Given the description of an element on the screen output the (x, y) to click on. 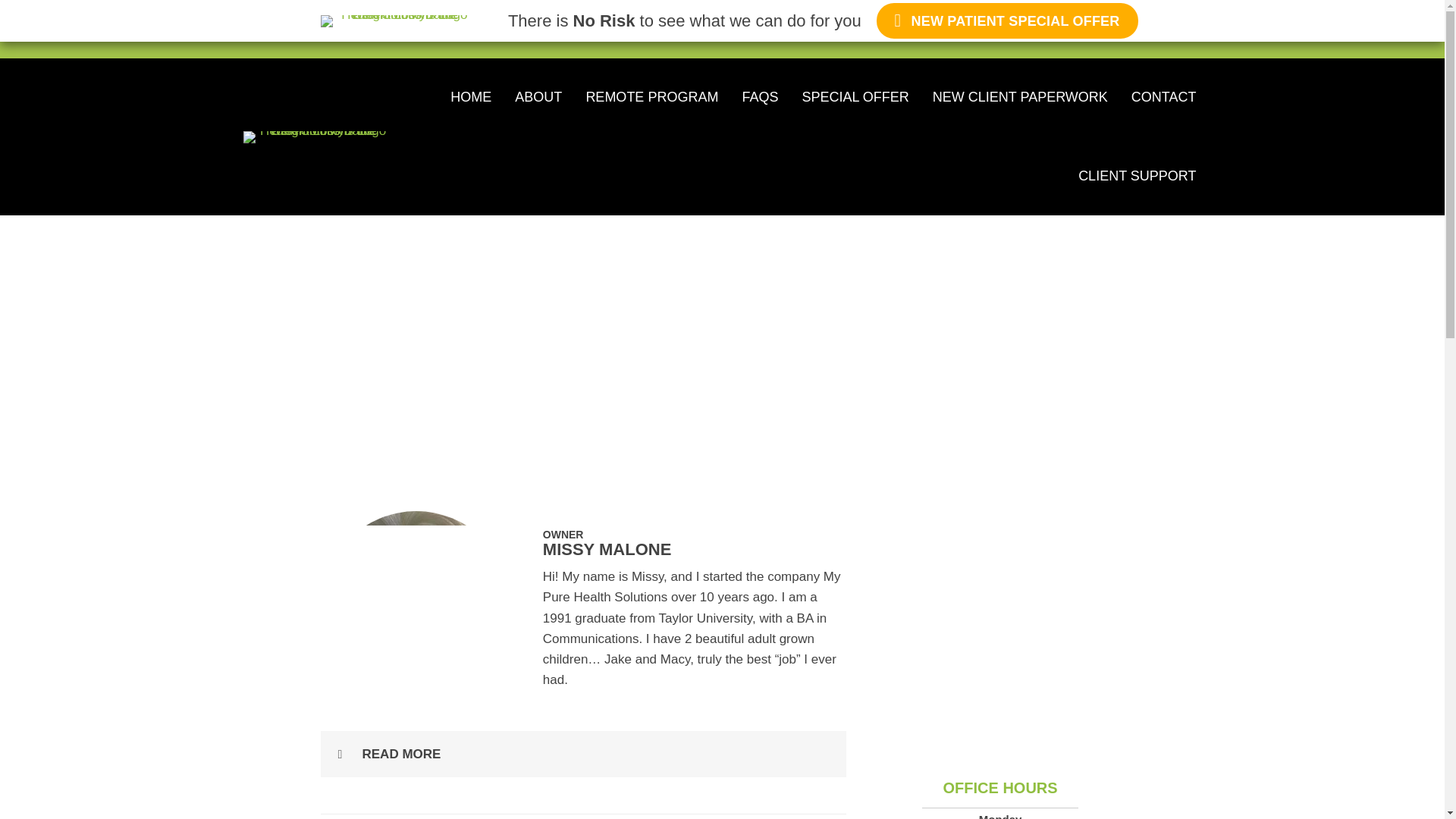
CONTACT (1163, 97)
Weight Loss Battle Creek MI My Pure Health Solutions Logo (317, 137)
REMOTE PROGRAM (651, 97)
SPECIAL OFFER (855, 97)
CLIENT SUPPORT (1137, 176)
ABOUT (538, 97)
NEW CLIENT PAPERWORK (1020, 97)
Weight Loss Battle Creek MI Missy McCullough (416, 606)
Weight Loss Battle Creek MI My Pure Health Solutions Logo (398, 21)
NEW PATIENT SPECIAL OFFER (1007, 20)
